Given the description of an element on the screen output the (x, y) to click on. 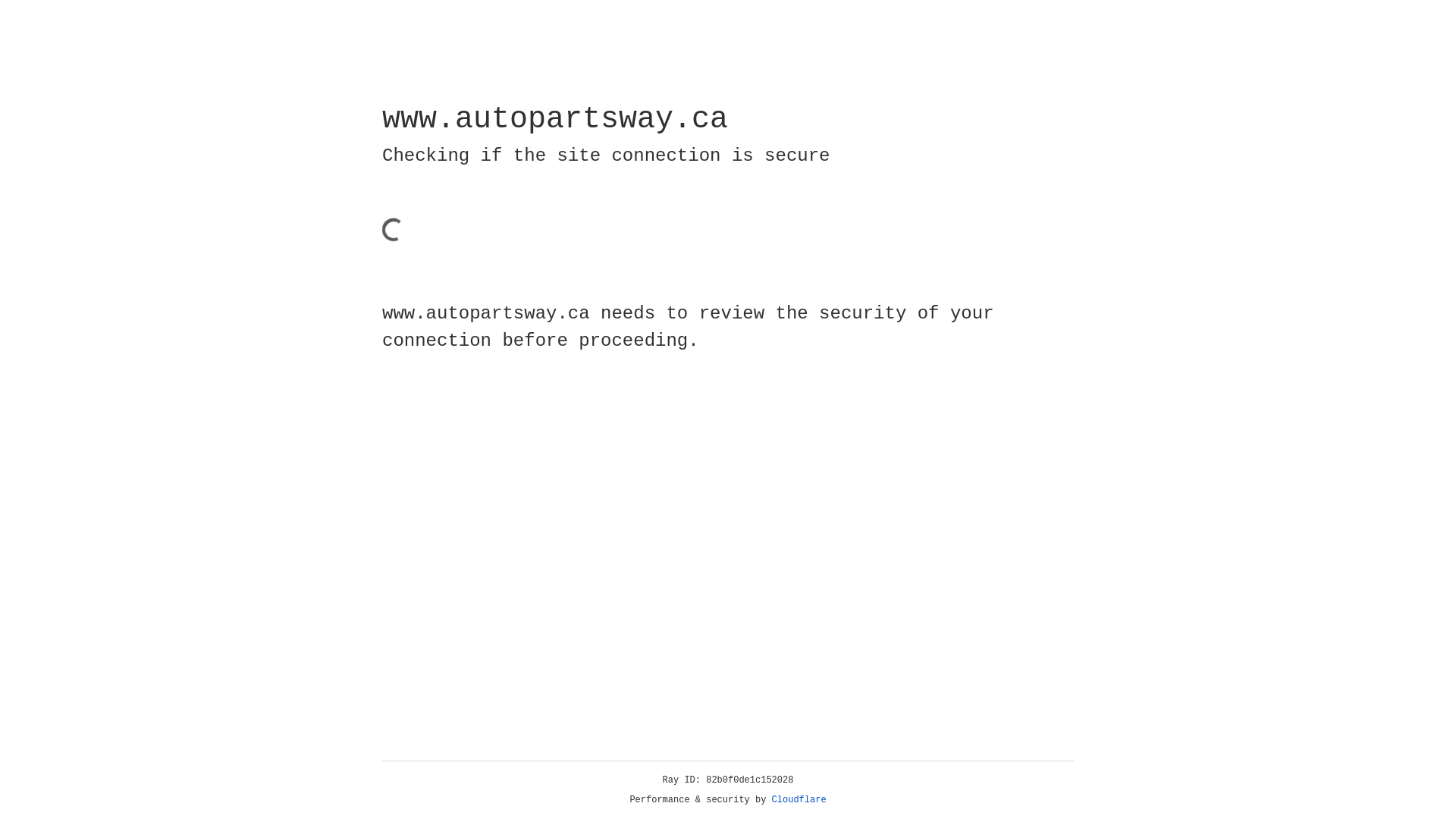
Cloudflare Element type: text (798, 799)
